Given the description of an element on the screen output the (x, y) to click on. 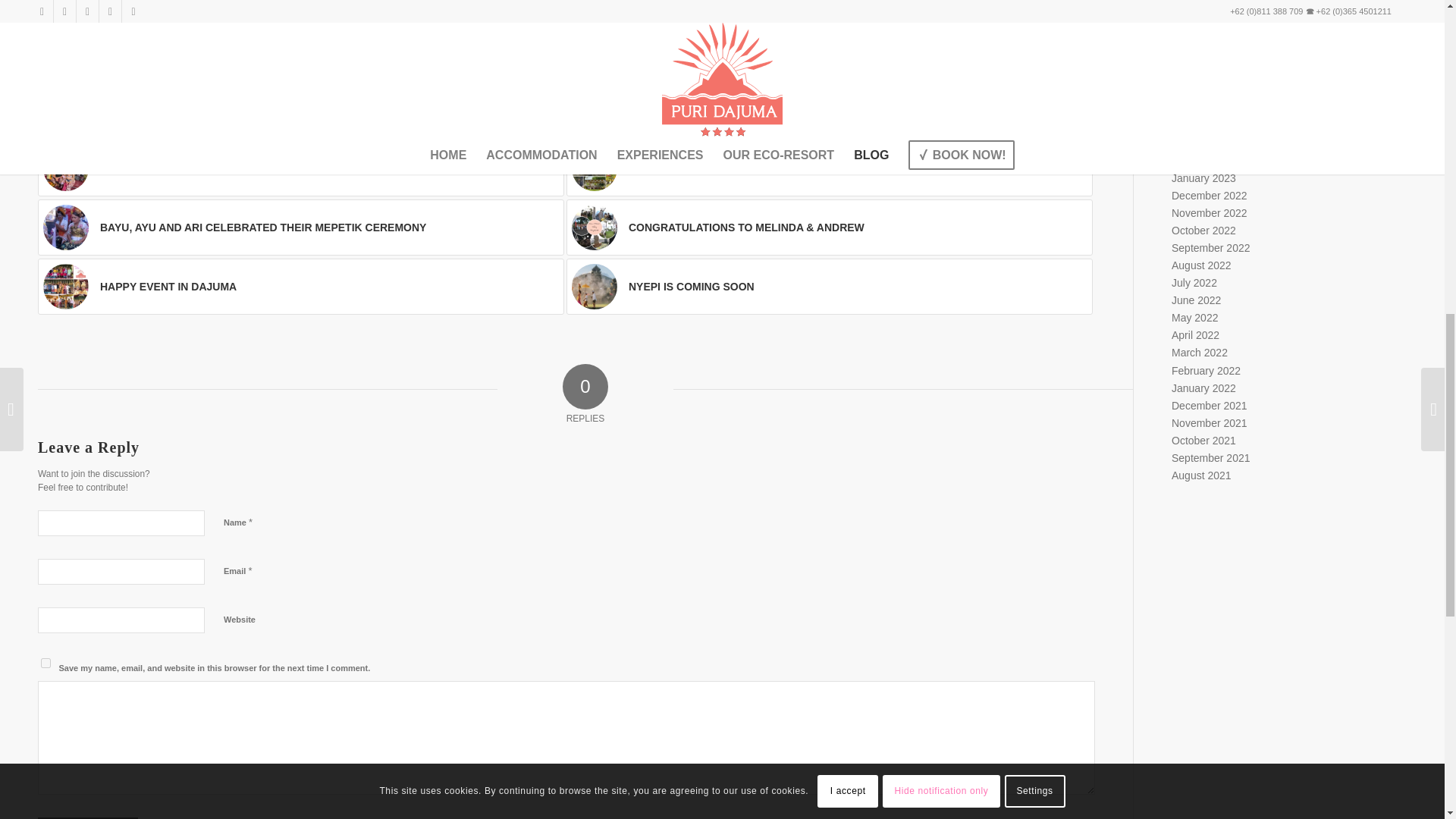
Post Comment (87, 818)
yes (45, 663)
